Given the description of an element on the screen output the (x, y) to click on. 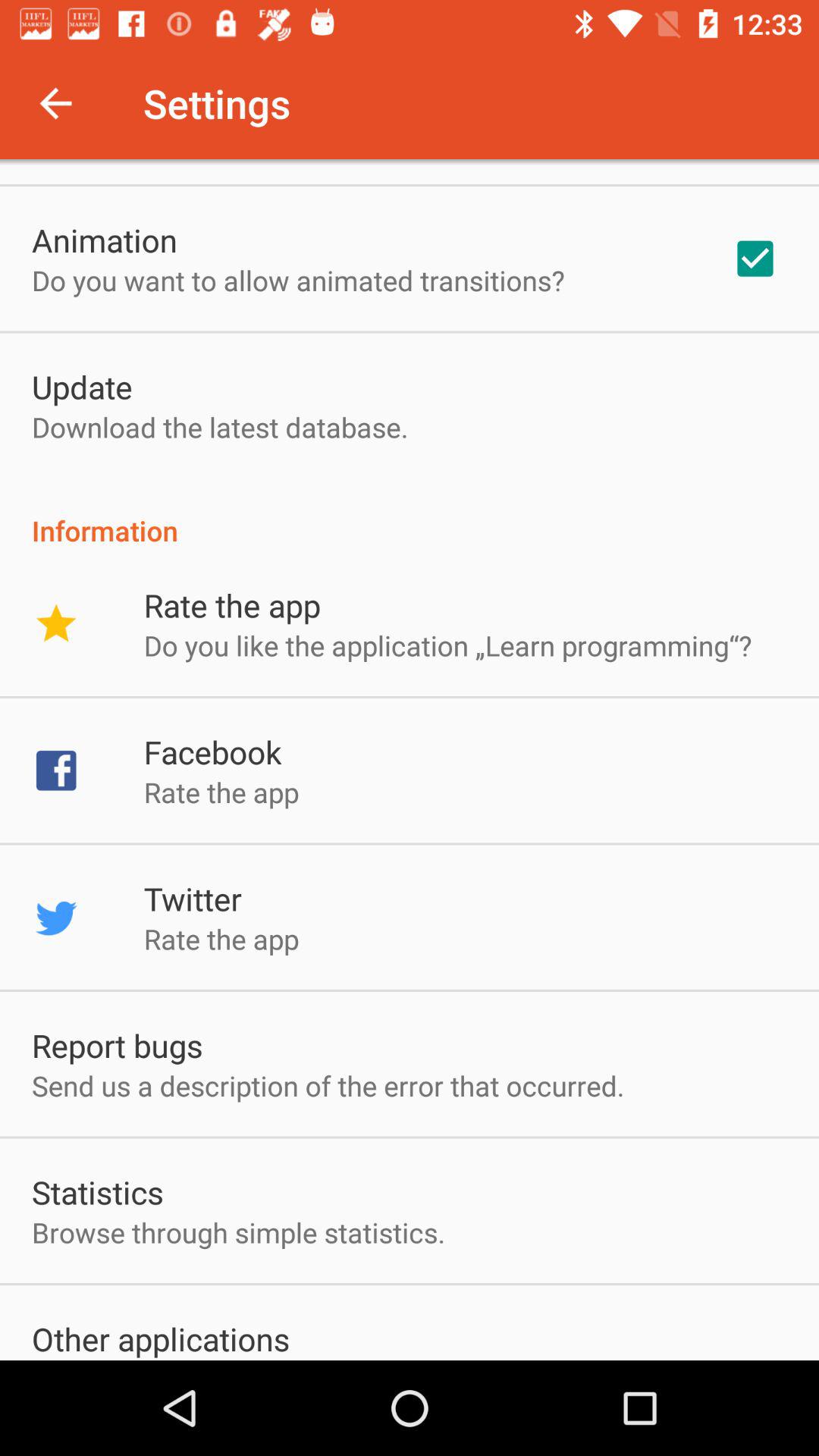
tap send us a item (327, 1085)
